Given the description of an element on the screen output the (x, y) to click on. 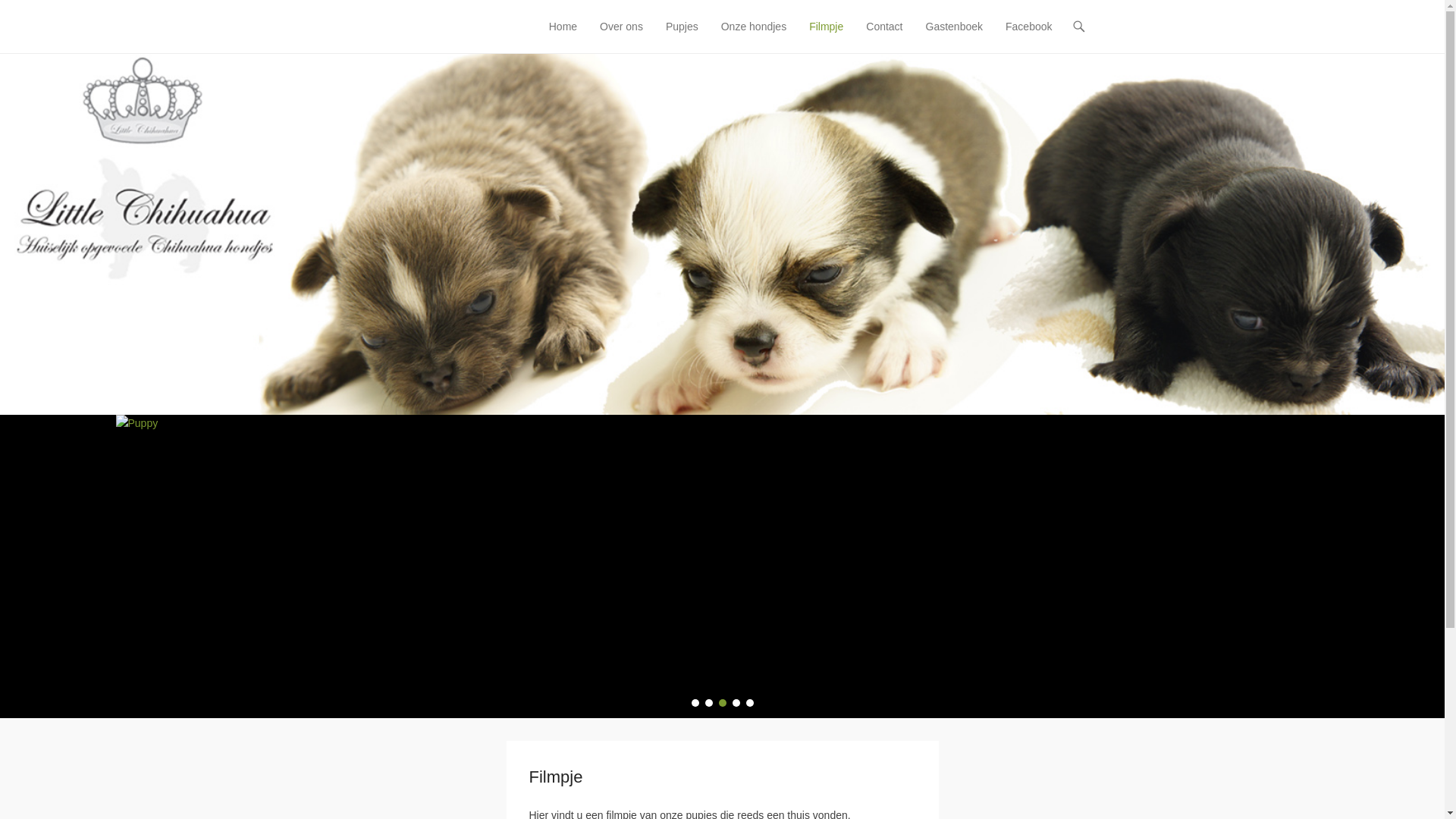
Pupjes Element type: text (682, 35)
4 Element type: text (736, 702)
Brilliants Element type: text (396, 20)
Filmpje Element type: text (825, 35)
2 Element type: text (708, 702)
Contact Element type: text (884, 35)
Puppy Element type: hover (721, 566)
3 Element type: text (722, 702)
Home Element type: text (562, 35)
Spring naar inhoud Element type: text (585, 27)
Onze hondjes Element type: text (753, 35)
Gastenboek Element type: text (954, 35)
Puppy Element type: hover (722, 566)
Over ons Element type: text (621, 35)
Facebook Element type: text (1028, 35)
5 Element type: text (749, 702)
1 Element type: text (695, 702)
